Given the description of an element on the screen output the (x, y) to click on. 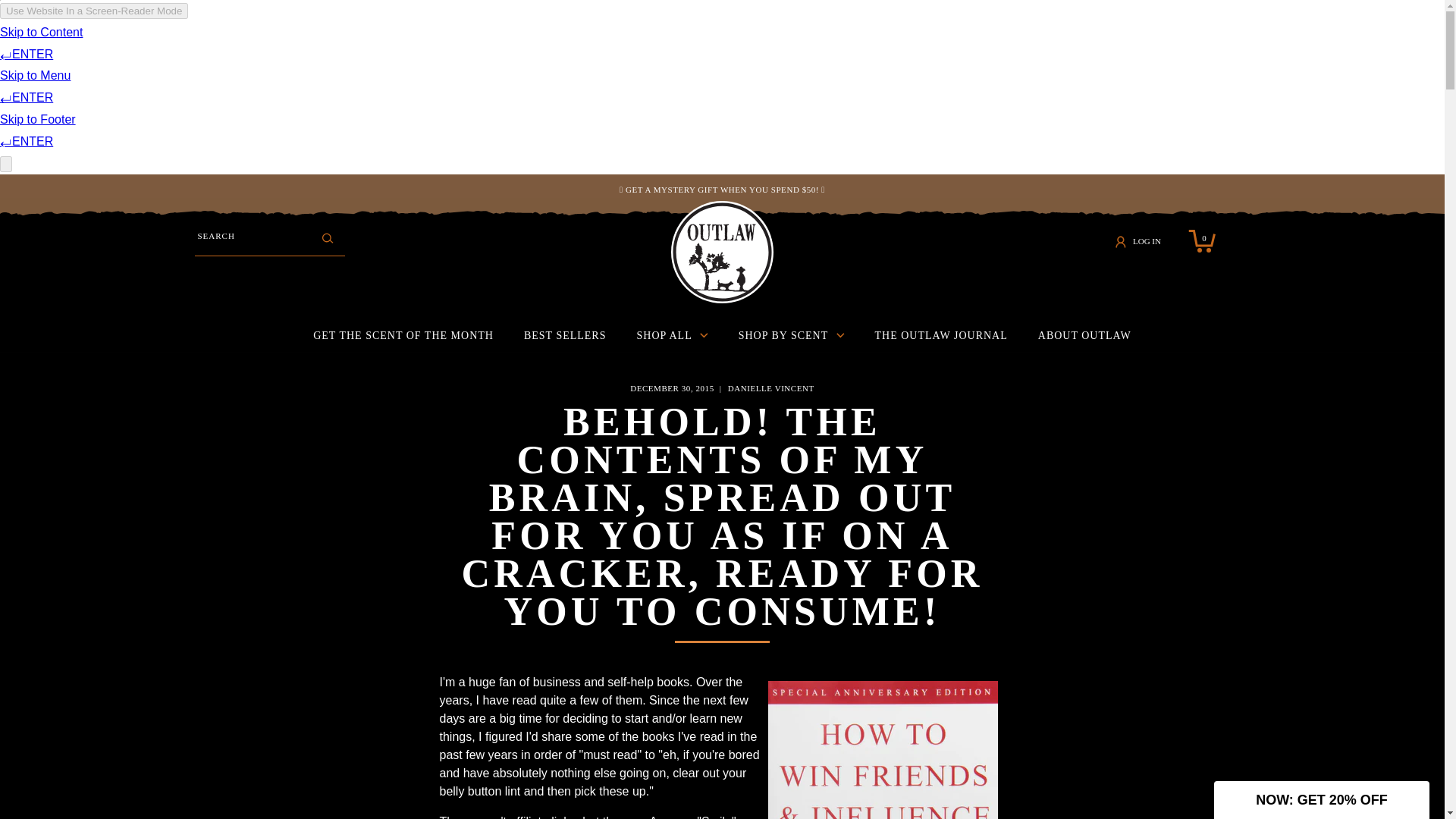
LOG IN (1142, 241)
GET THE SCENT OF THE MONTH (1201, 240)
BEST SELLERS (403, 336)
